Given the description of an element on the screen output the (x, y) to click on. 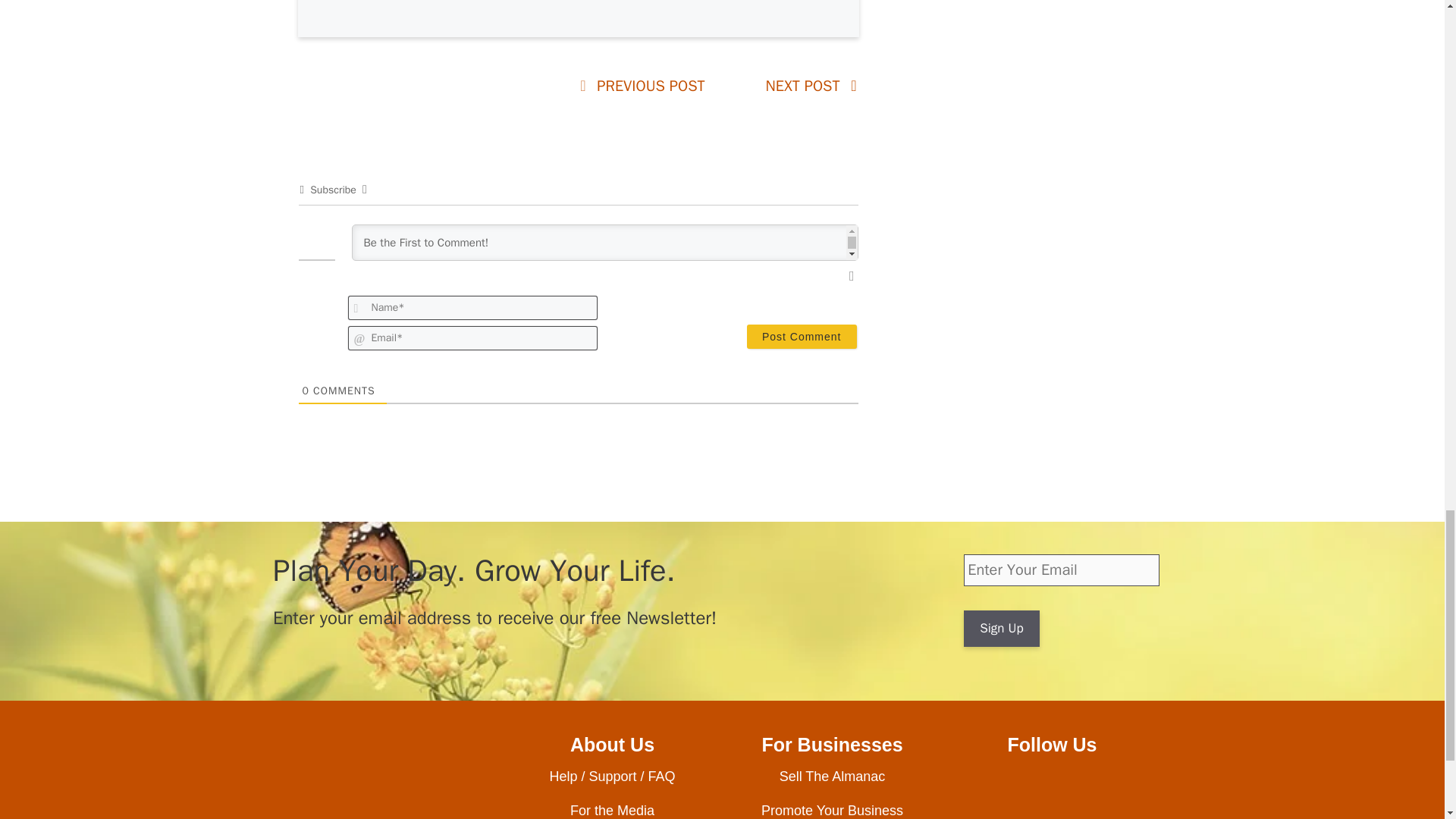
Caprese Salad (802, 85)
Garden Pests: Groundhogs (650, 85)
Post Comment (801, 336)
Sign Up (1001, 628)
